Given the description of an element on the screen output the (x, y) to click on. 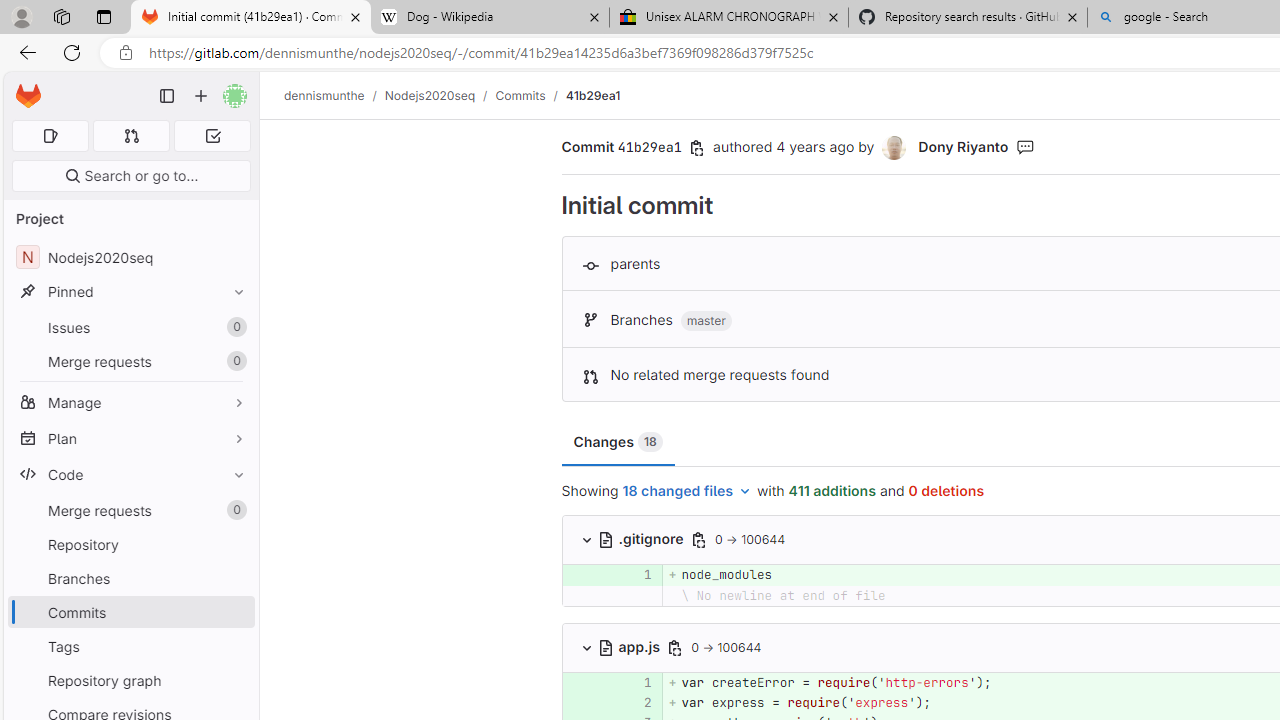
Add a comment to this line  (587, 701)
Primary navigation sidebar (167, 96)
Pin Commits (234, 611)
Skip to main content (23, 87)
1 (637, 681)
Branches (130, 578)
Merge requests0 (130, 510)
Plan (130, 438)
Create new... (201, 96)
Pin Repository graph (234, 680)
Merge requests 0 (130, 510)
